Given the description of an element on the screen output the (x, y) to click on. 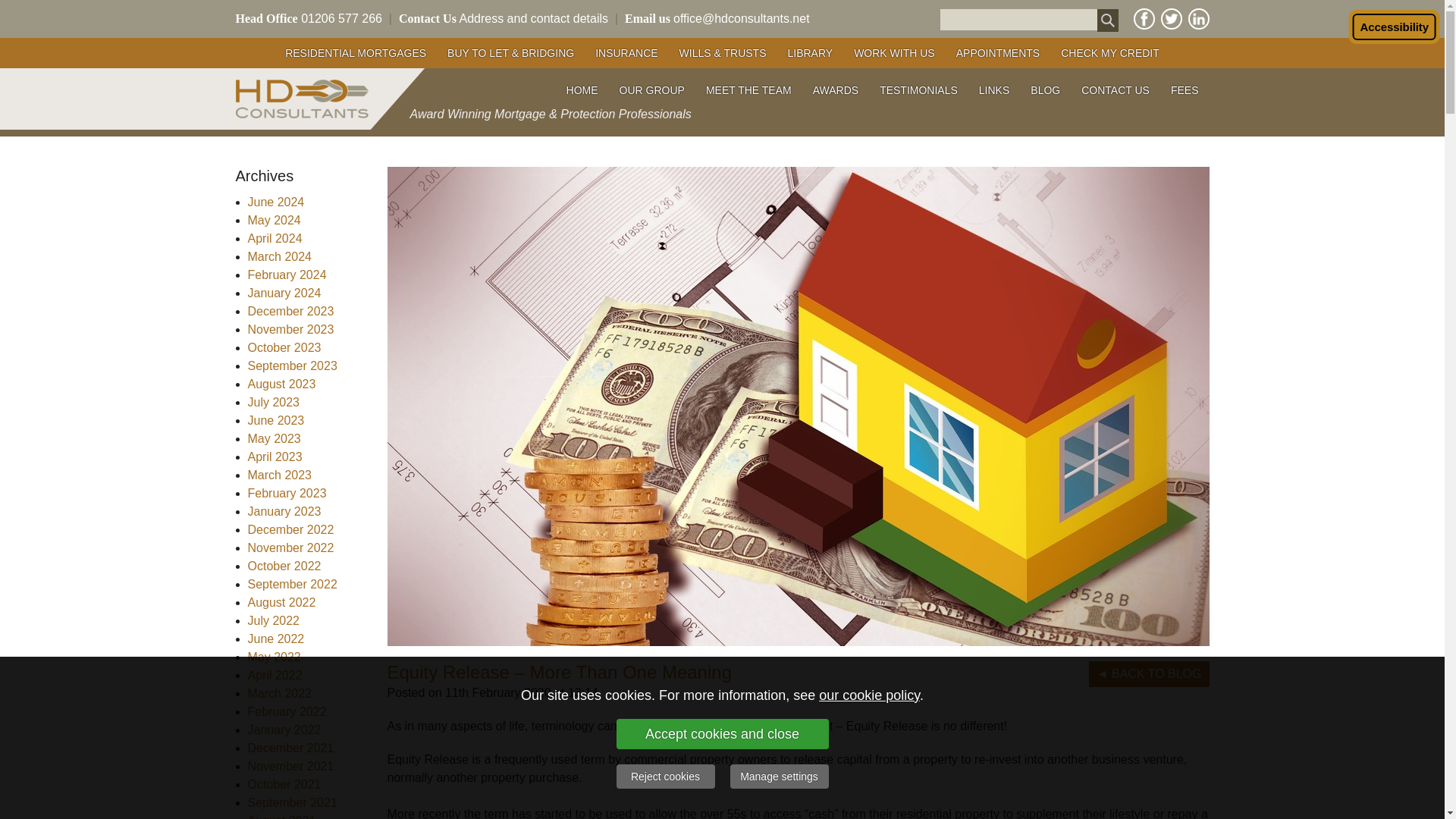
Contact Us Address and contact details (503, 18)
INSURANCE (626, 52)
Accessibility Menu (1394, 26)
LIBRARY (809, 52)
MEET THE TEAM (748, 89)
CHECK MY CREDIT (1109, 52)
AWARDS (835, 89)
RESIDENTIAL MORTGAGES (355, 52)
HOME (582, 89)
Head Office 01206 577 266 (307, 18)
APPOINTMENTS (996, 52)
OUR GROUP (651, 89)
WORK WITH US (893, 52)
